Given the description of an element on the screen output the (x, y) to click on. 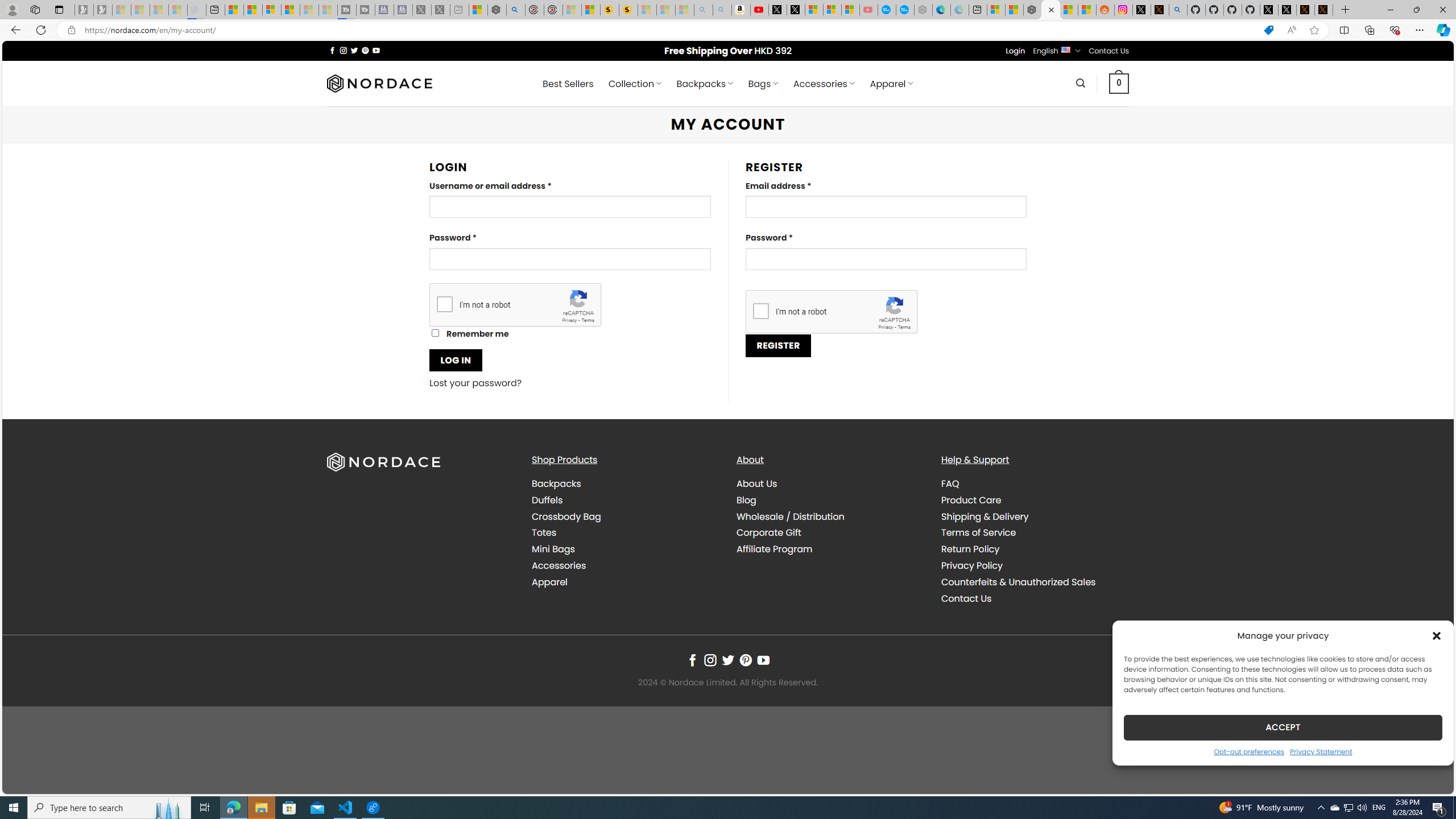
Privacy Policy (971, 565)
X Privacy Policy (1324, 9)
Login (1015, 50)
Apparel (549, 581)
X - Sleeping (440, 9)
REGISTER (777, 345)
